Given the description of an element on the screen output the (x, y) to click on. 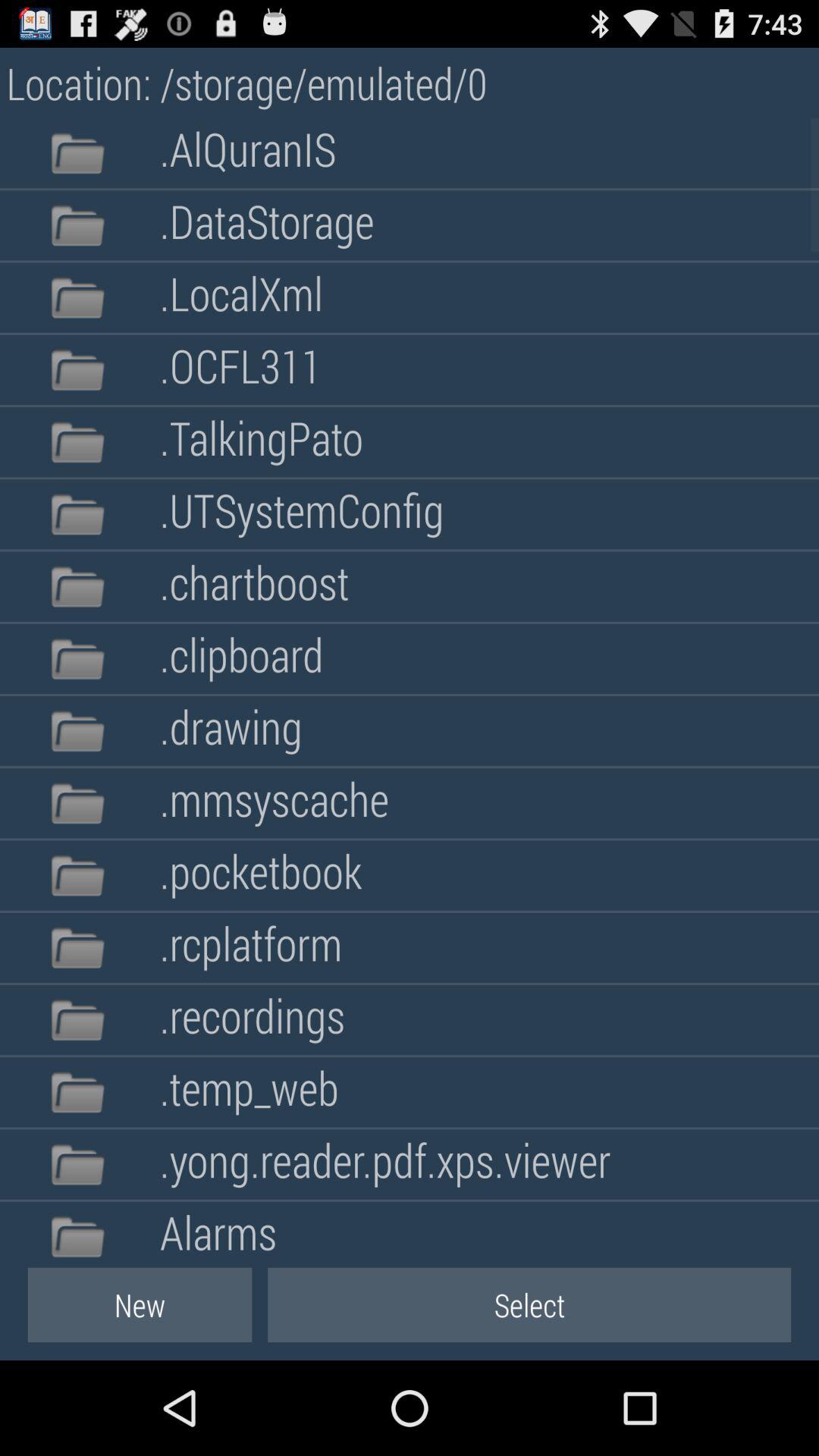
jump until .mmsyscache (274, 803)
